Given the description of an element on the screen output the (x, y) to click on. 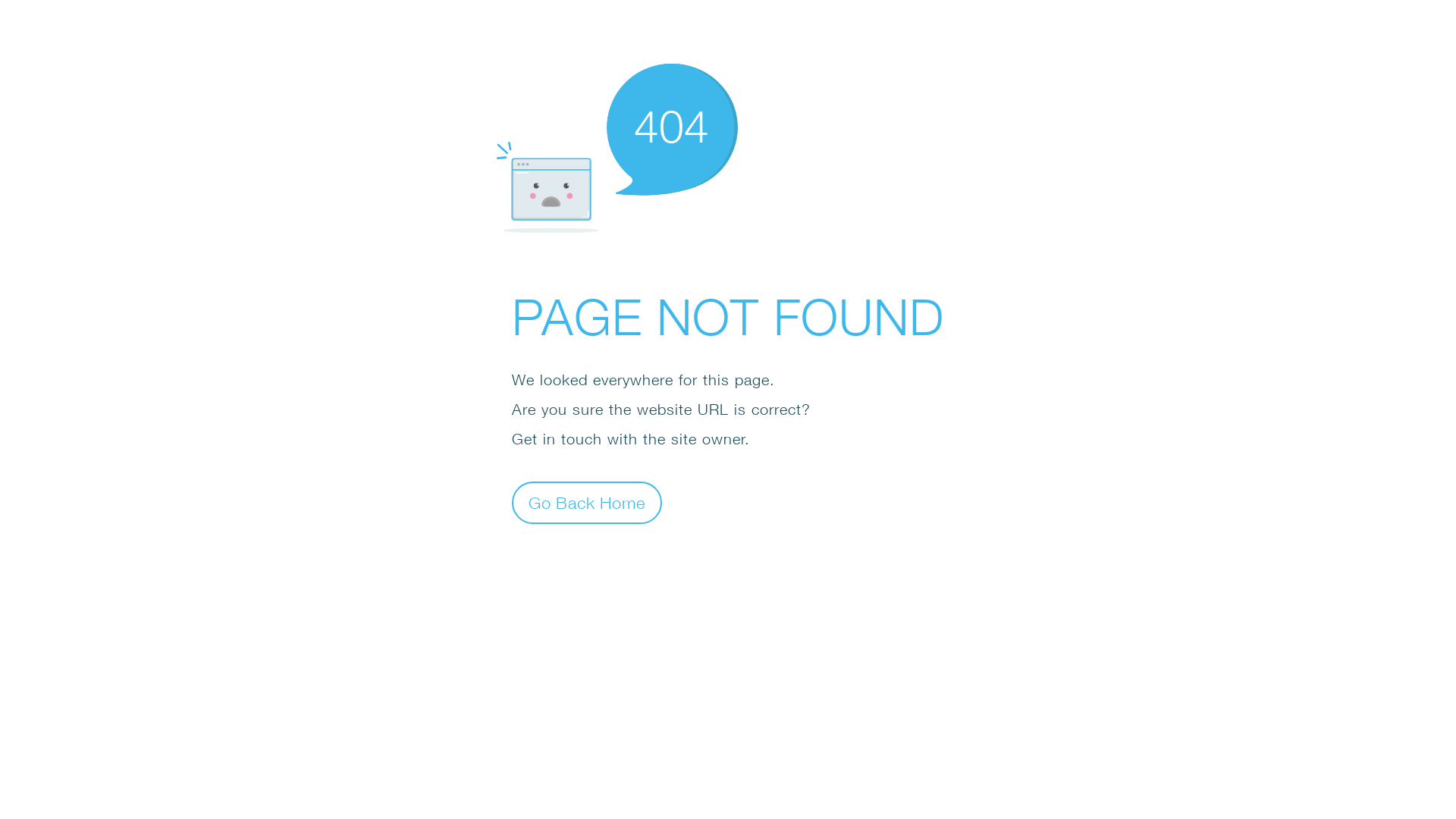
Go Back Home Element type: text (586, 502)
